Given the description of an element on the screen output the (x, y) to click on. 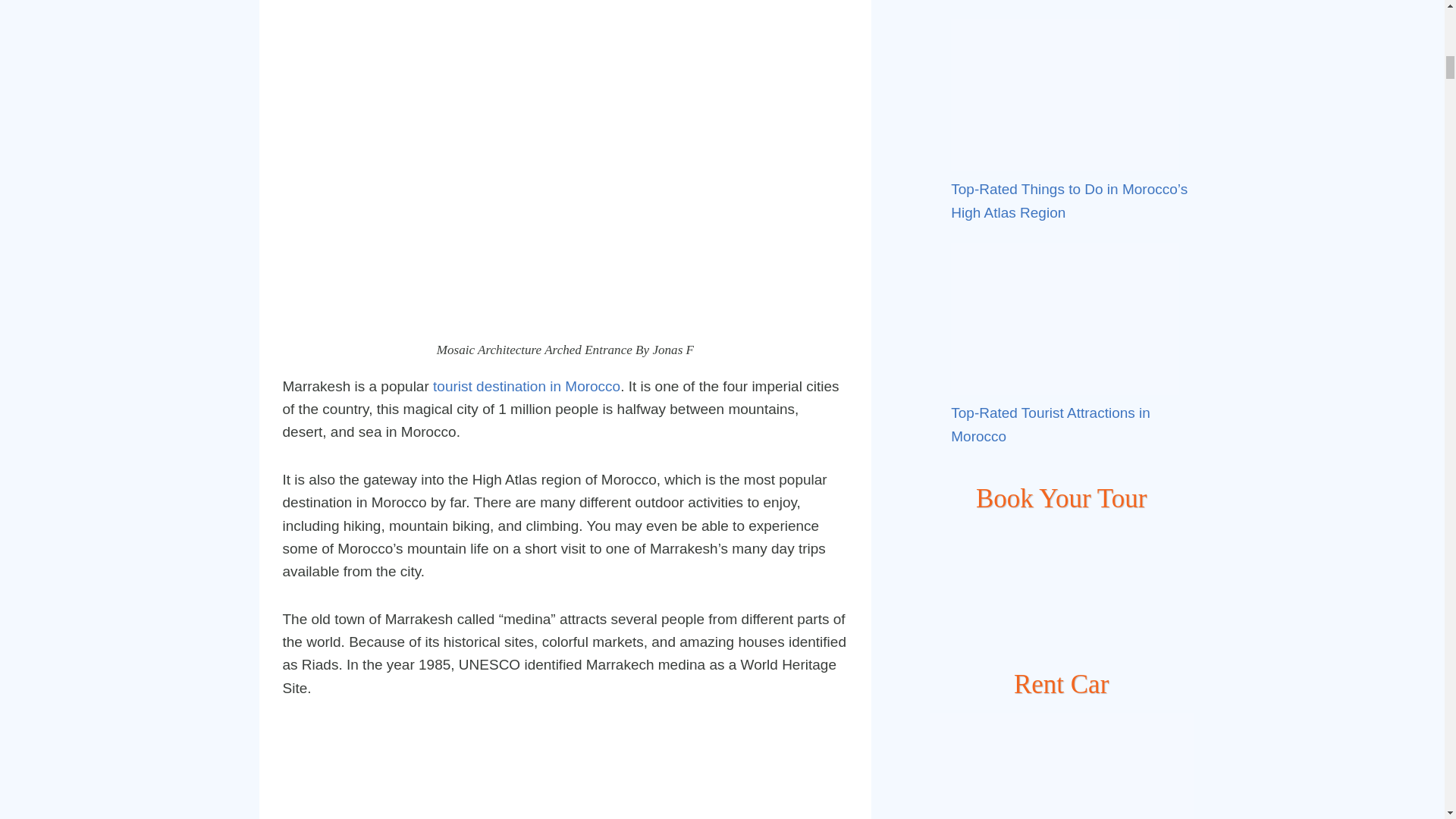
DiscoverCars.com (1061, 765)
